Given the description of an element on the screen output the (x, y) to click on. 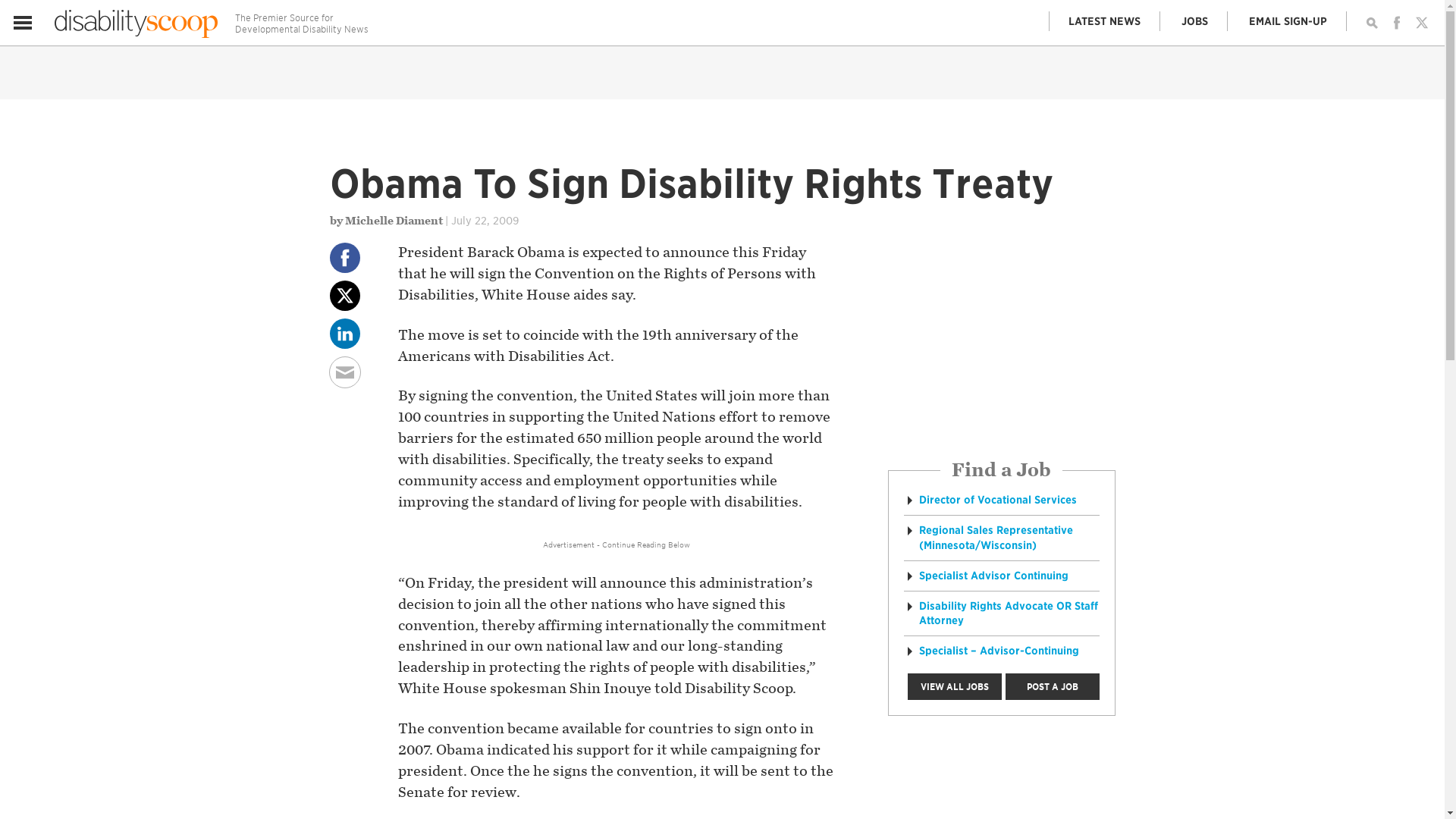
JOBS (1194, 21)
Twitter (1421, 22)
Facebook (1396, 22)
LATEST NEWS (1104, 21)
EMAIL SIGN-UP (1288, 21)
Menu (22, 22)
Search (1371, 22)
